Given the description of an element on the screen output the (x, y) to click on. 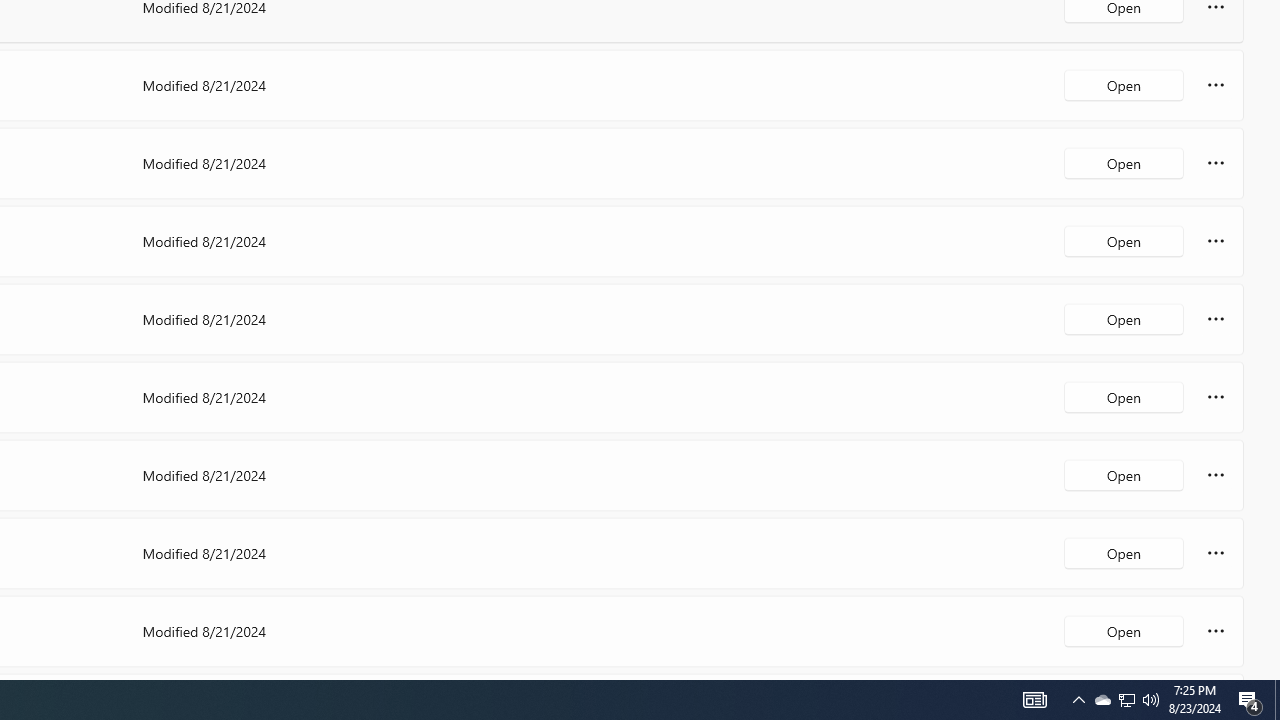
Open (1123, 630)
More options (1215, 630)
